Given the description of an element on the screen output the (x, y) to click on. 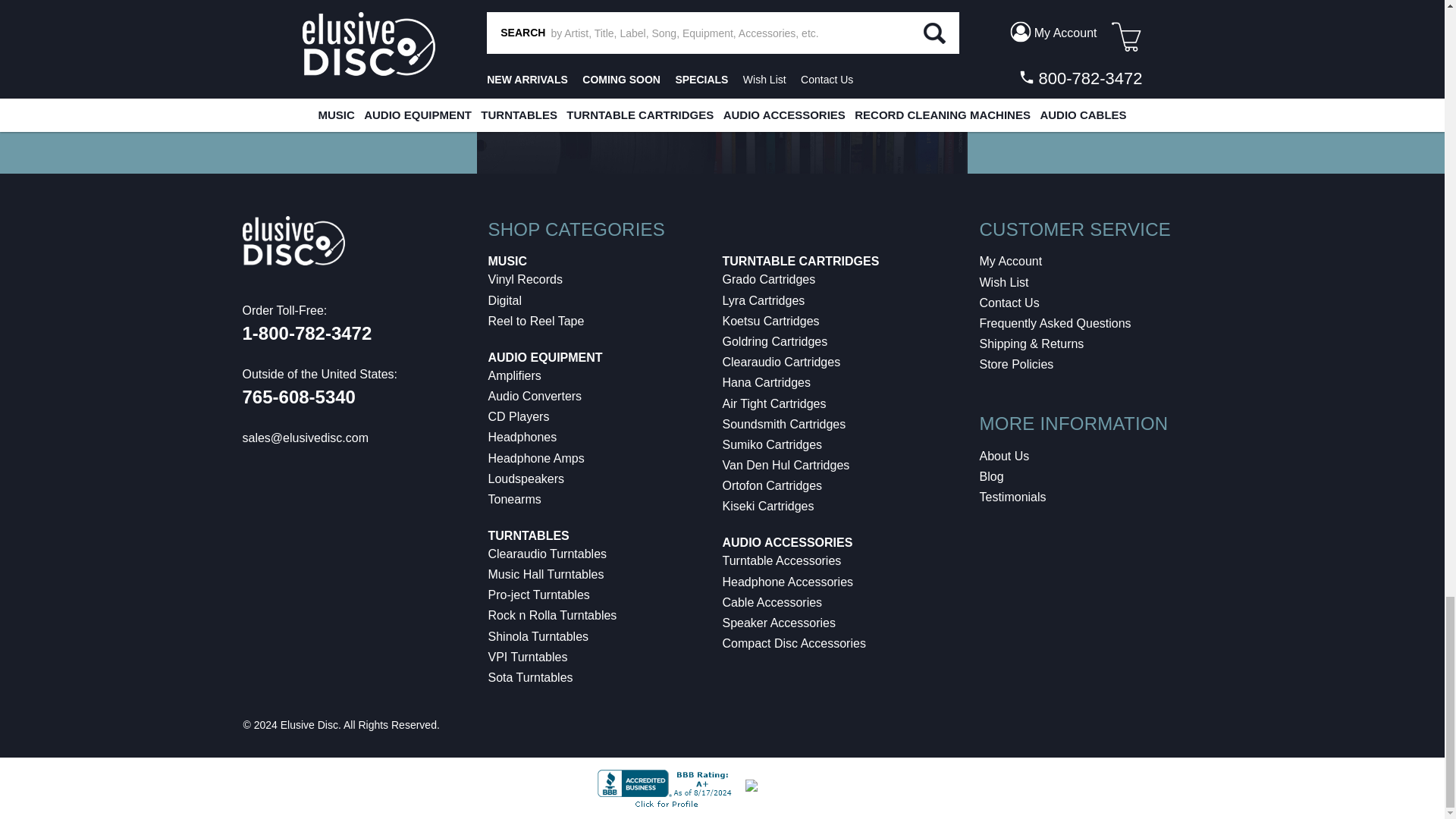
Sign Up (1323, 77)
Headphone Amp (536, 458)
Vinyl Records (524, 278)
Audio Converter (534, 395)
Digital (504, 300)
Headphones (522, 436)
Loudspeakers (525, 478)
CD Players (518, 416)
Tonearm (514, 499)
Amplifiers (514, 375)
